Given the description of an element on the screen output the (x, y) to click on. 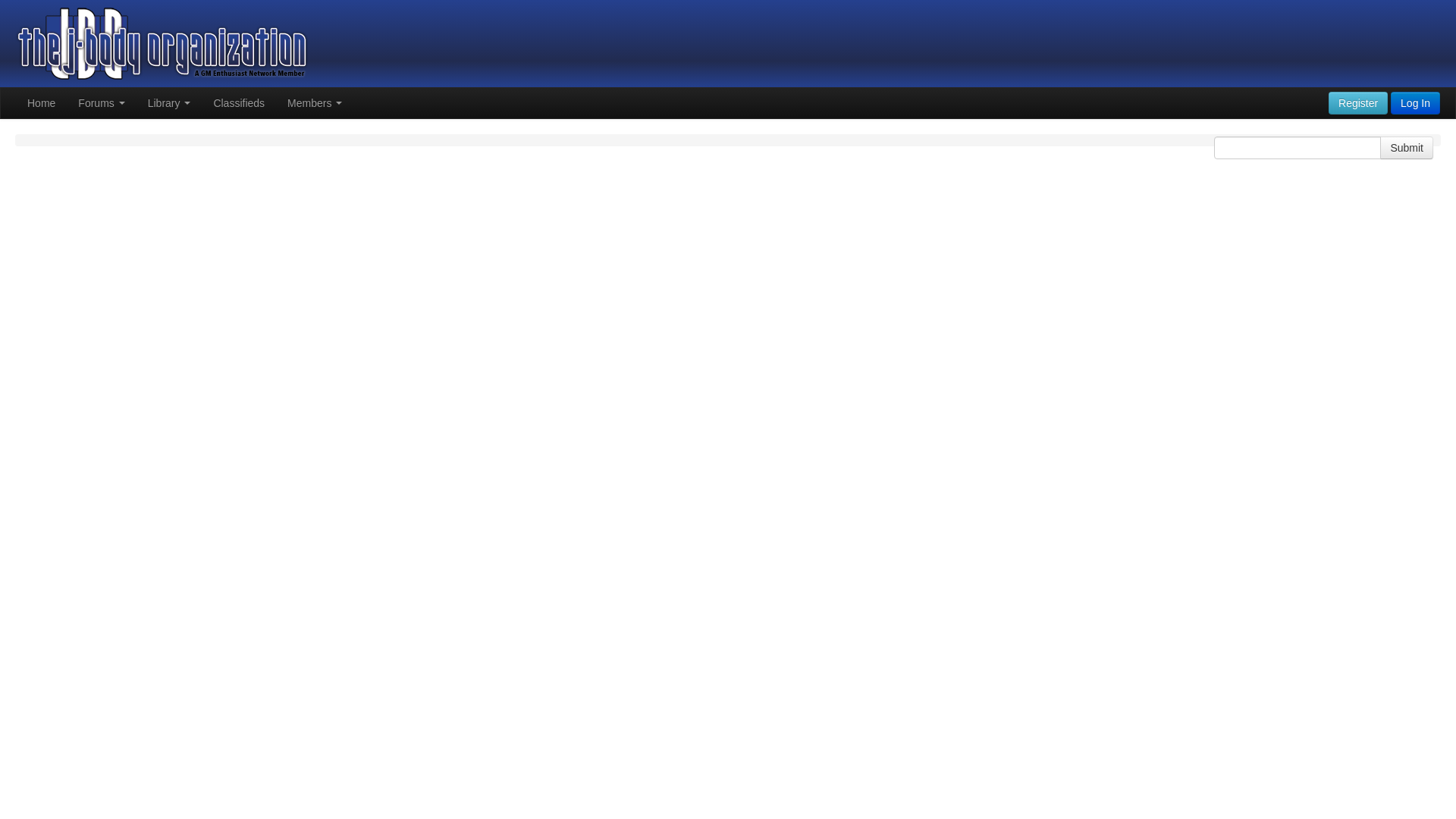
Home (41, 102)
Forums (100, 102)
